Given the description of an element on the screen output the (x, y) to click on. 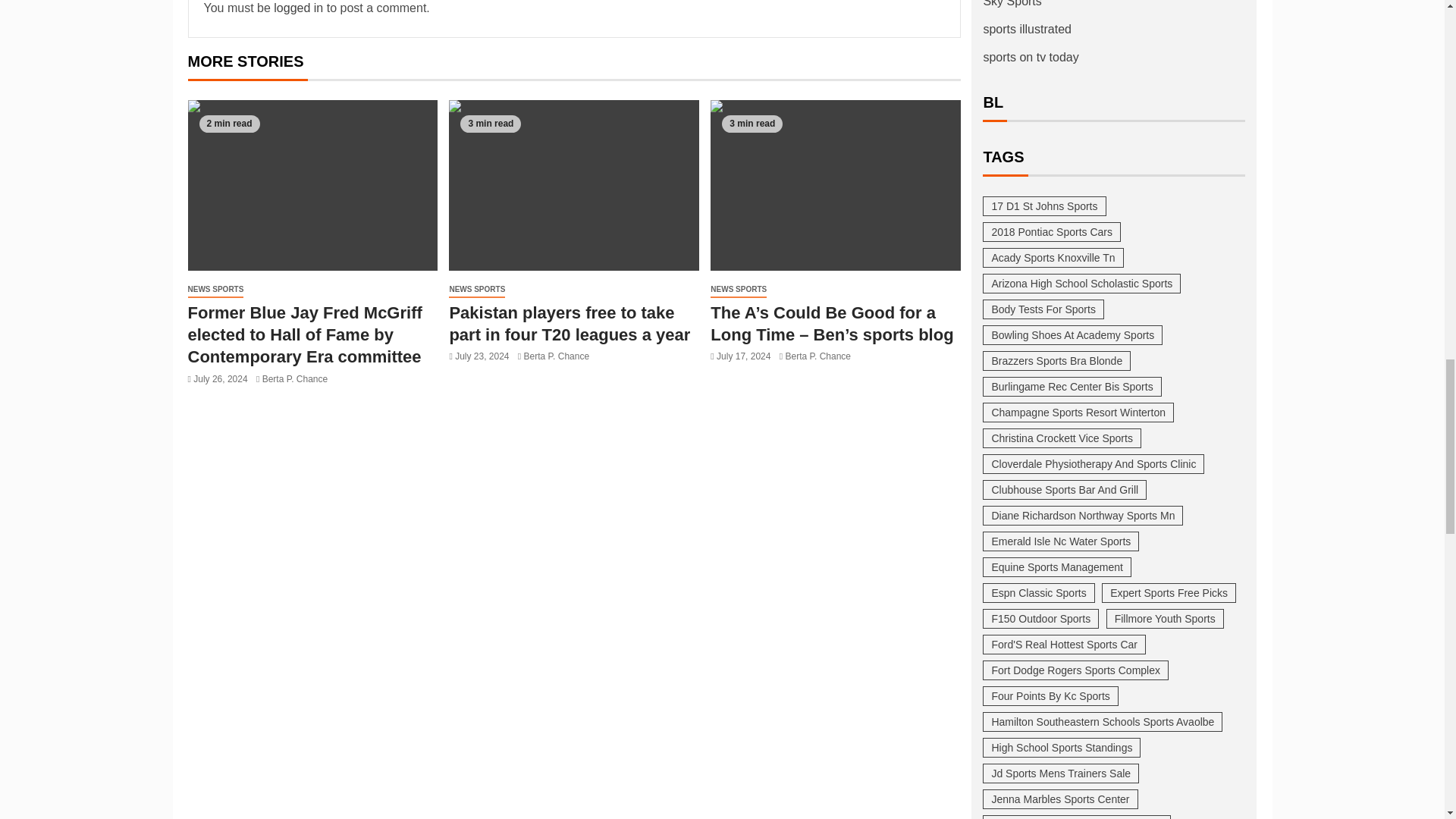
logged in (298, 7)
NEWS SPORTS (215, 289)
Berta P. Chance (295, 378)
